Given the description of an element on the screen output the (x, y) to click on. 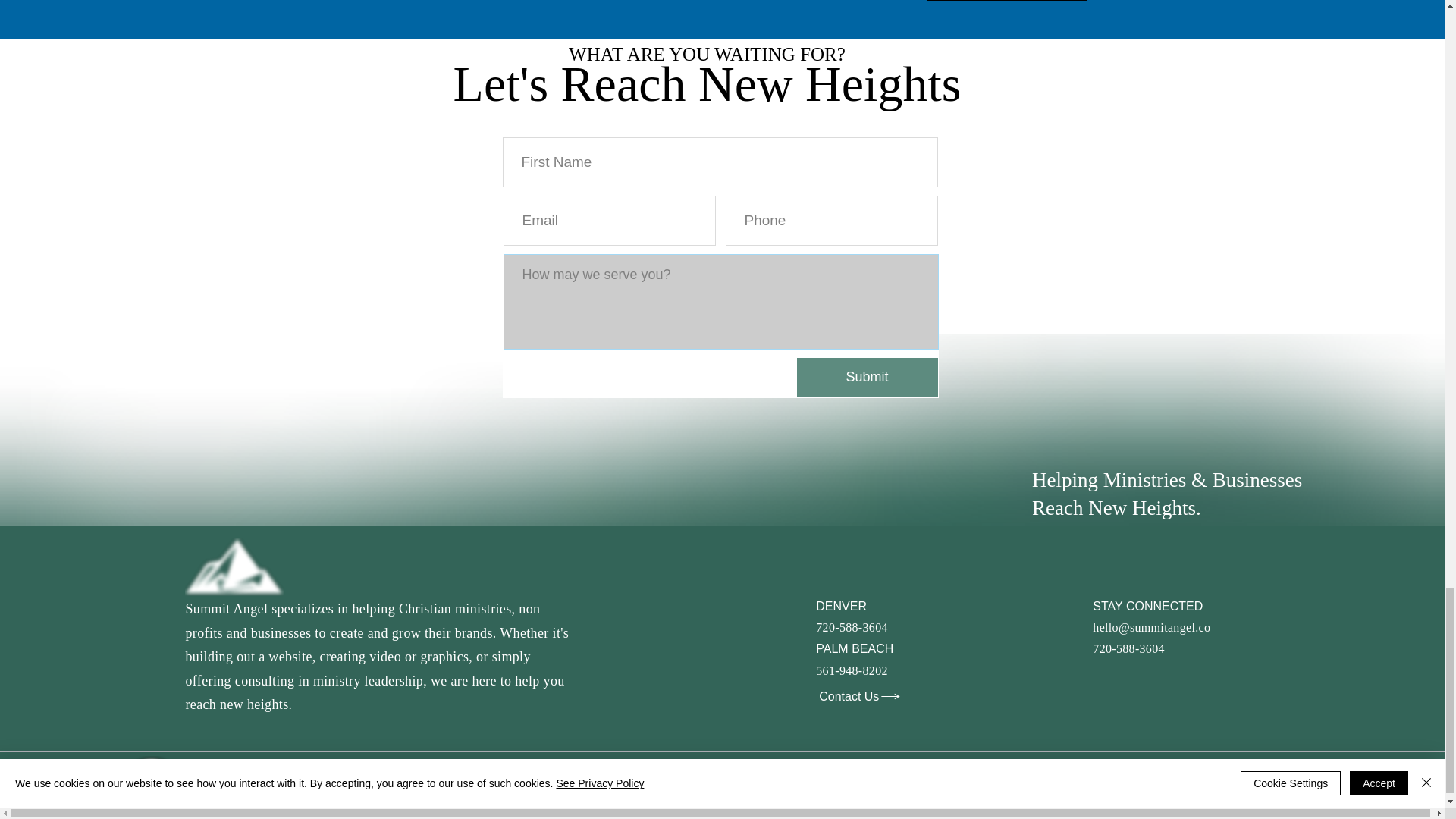
Privacy Policy (1163, 777)
Testimonials (1004, 777)
Submit (866, 377)
Contact Us (859, 696)
Contact Us (1083, 777)
720-588-3604 (851, 626)
About Us (937, 777)
Who We Are (847, 777)
720-588-3604 (1128, 648)
